Given the description of an element on the screen output the (x, y) to click on. 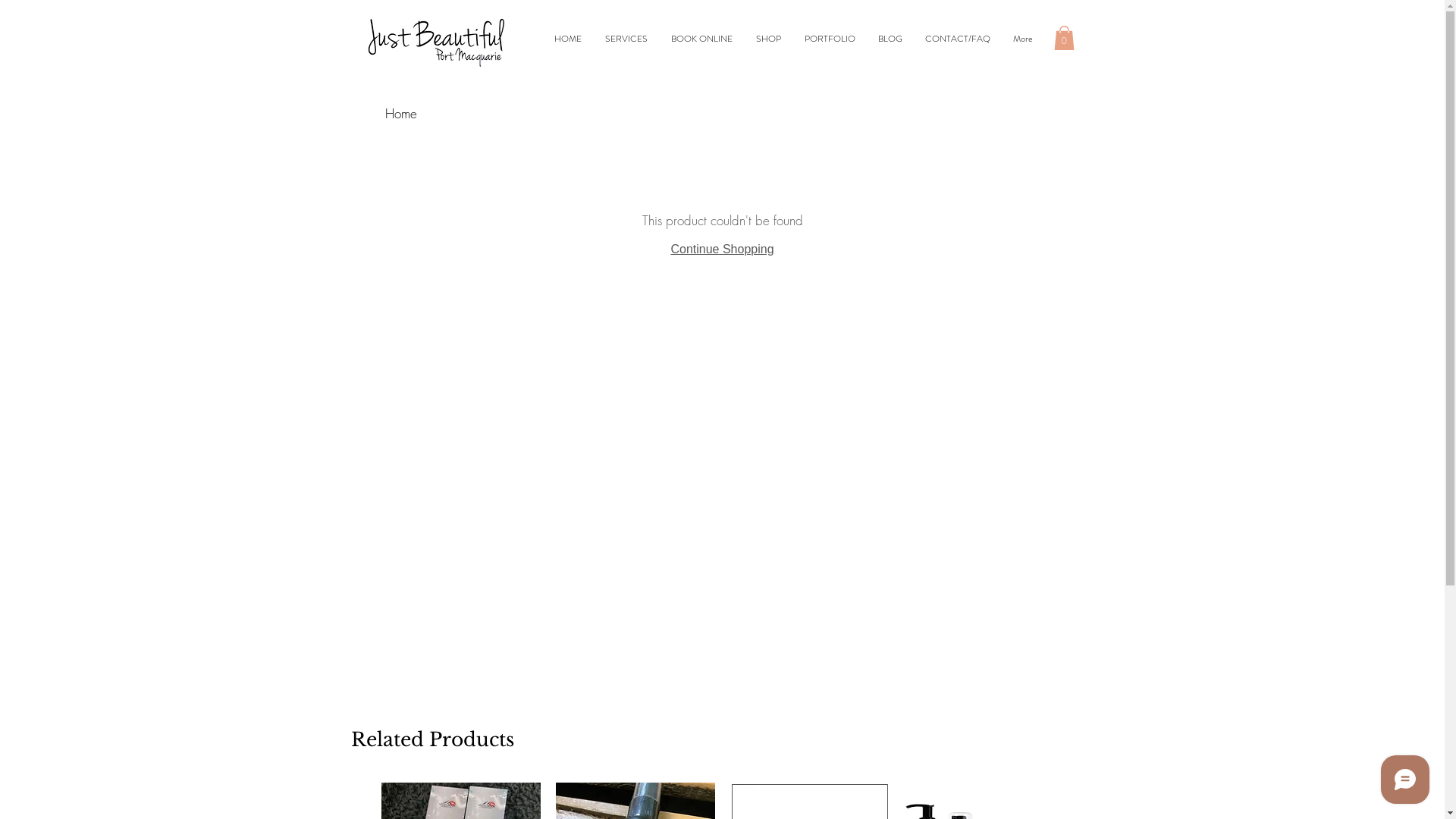
CONTACT/FAQ Element type: text (957, 38)
PORTFOLIO Element type: text (829, 38)
HOME Element type: text (567, 38)
Continue Shopping Element type: text (721, 248)
BOOK ONLINE Element type: text (701, 38)
0 Element type: text (1064, 37)
Home Element type: text (401, 113)
SERVICES Element type: text (625, 38)
SHOP Element type: text (768, 38)
BLOG Element type: text (889, 38)
